Given the description of an element on the screen output the (x, y) to click on. 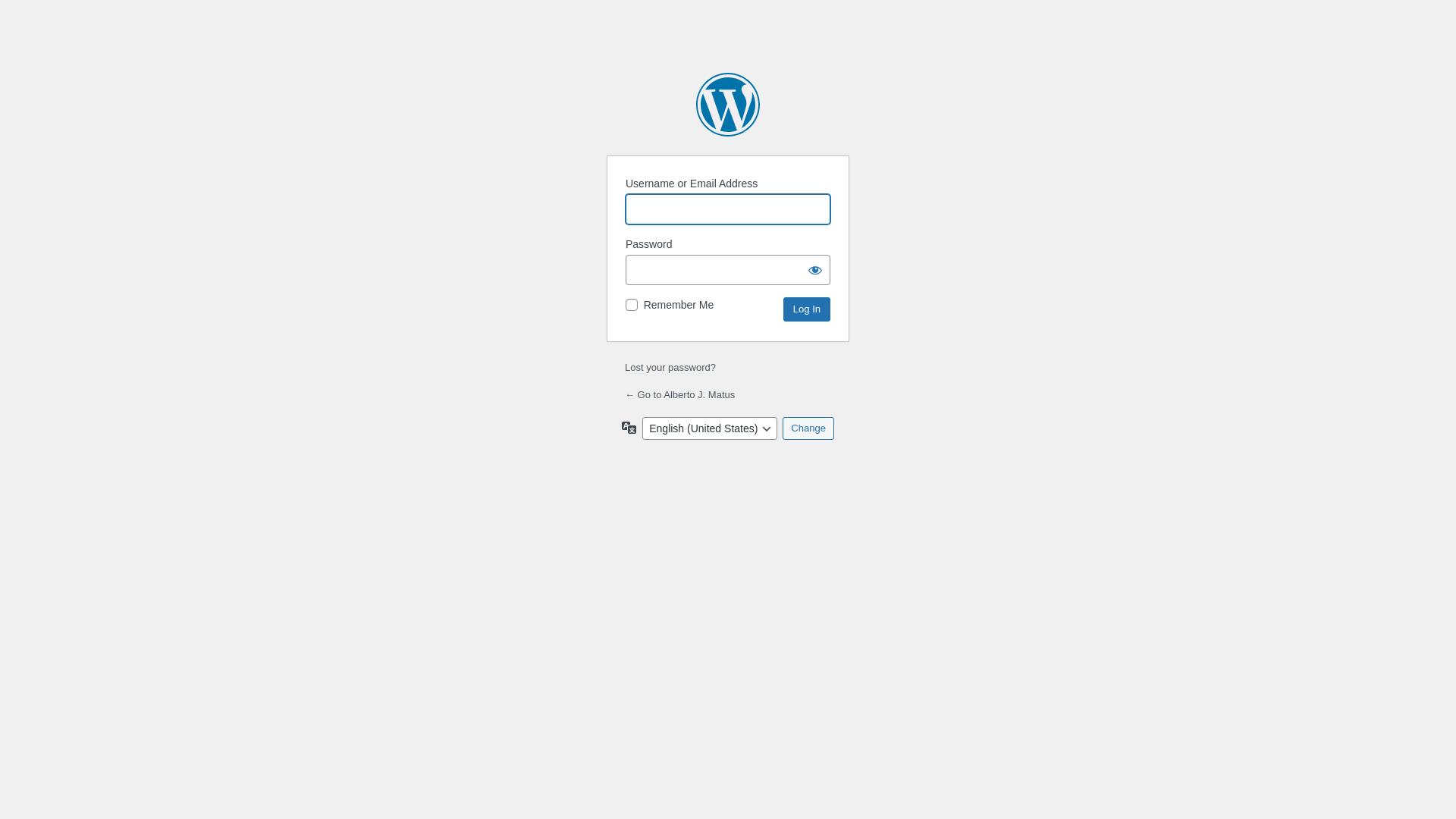
Lost your password? Element type: text (669, 367)
Powered by WordPress Element type: text (727, 104)
Log In Element type: text (806, 309)
Change Element type: text (808, 428)
